Given the description of an element on the screen output the (x, y) to click on. 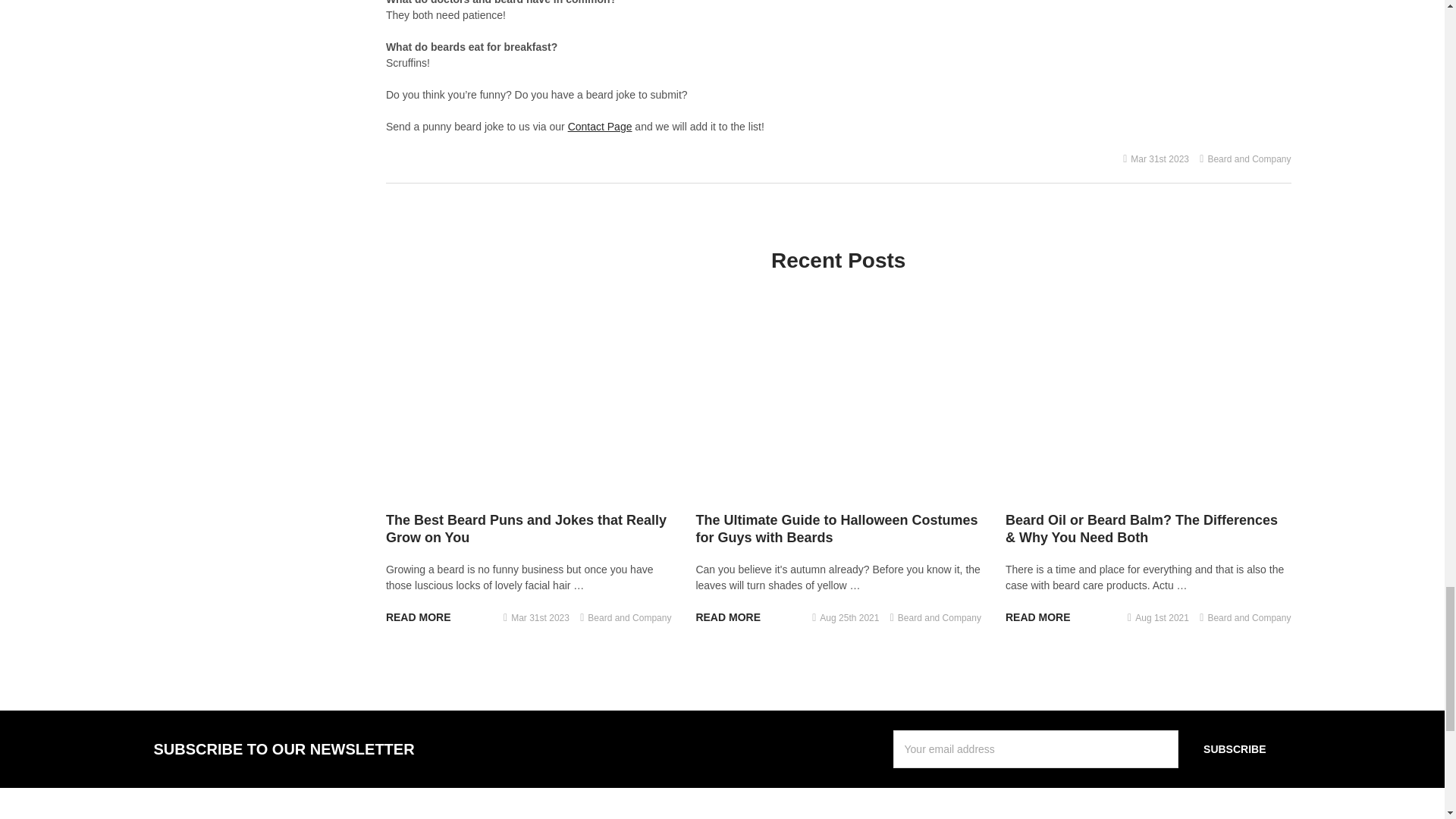
Subscribe (1233, 749)
The Best Beard Puns and Jokes that Really Grow on You (528, 400)
